Given the description of an element on the screen output the (x, y) to click on. 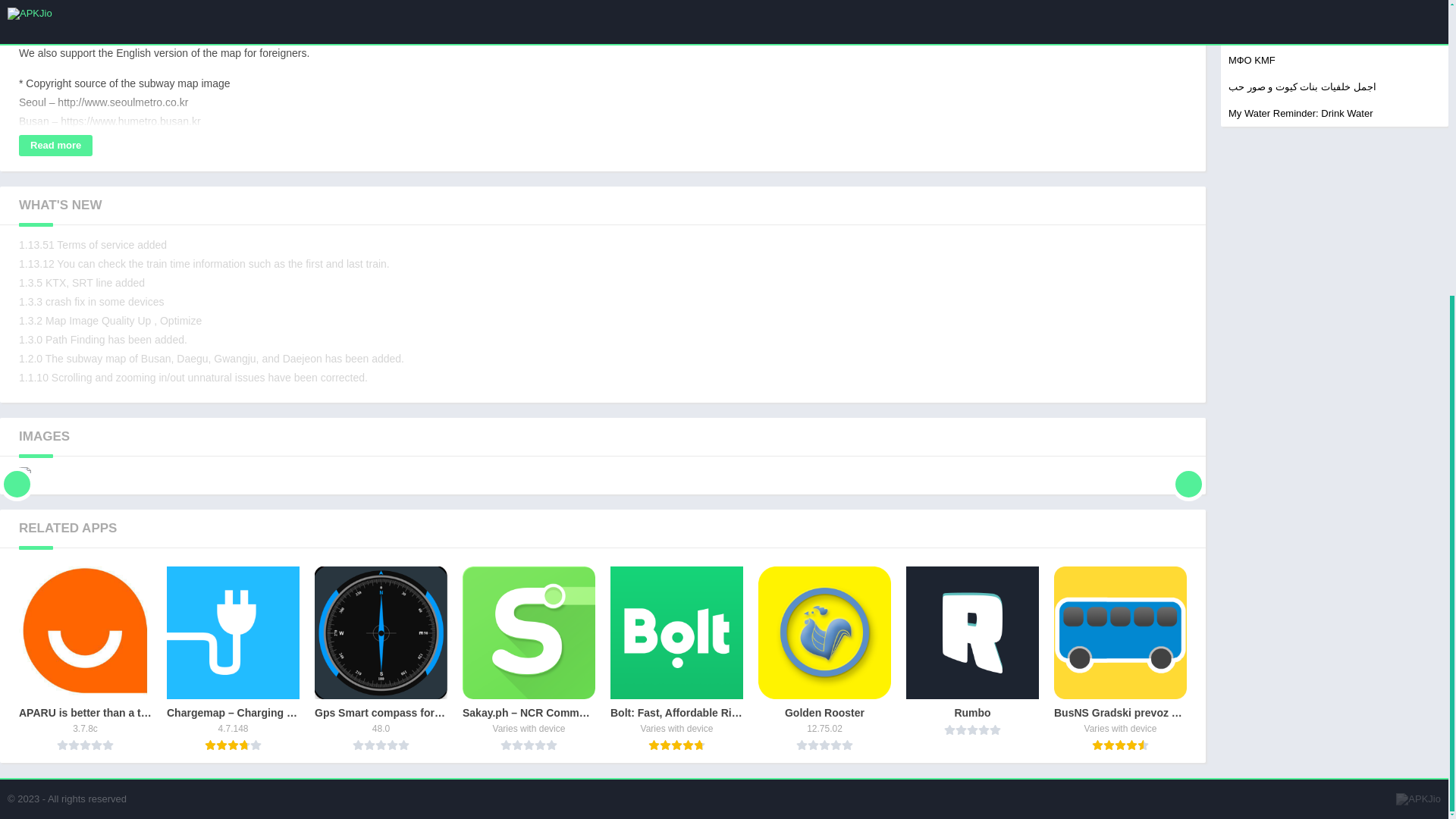
Previous (16, 472)
Next (1188, 472)
APARU is better than a taxi 3 (84, 632)
Chargemap - Charging stations 4 (233, 632)
Gps Smart compass for Android 5 (380, 632)
